Given the description of an element on the screen output the (x, y) to click on. 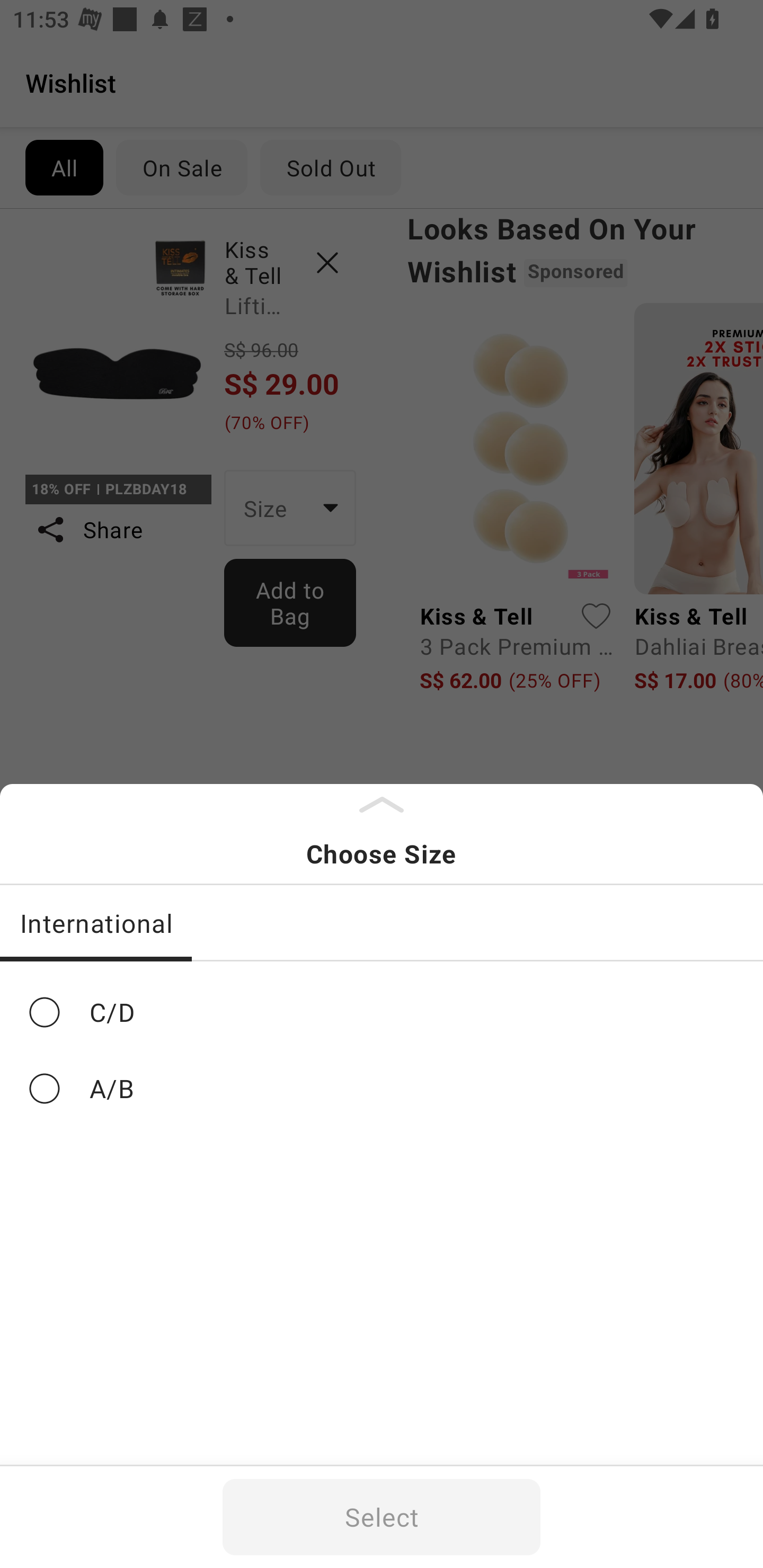
C/D (381, 1011)
A/B (381, 1088)
Select (381, 1516)
